Given the description of an element on the screen output the (x, y) to click on. 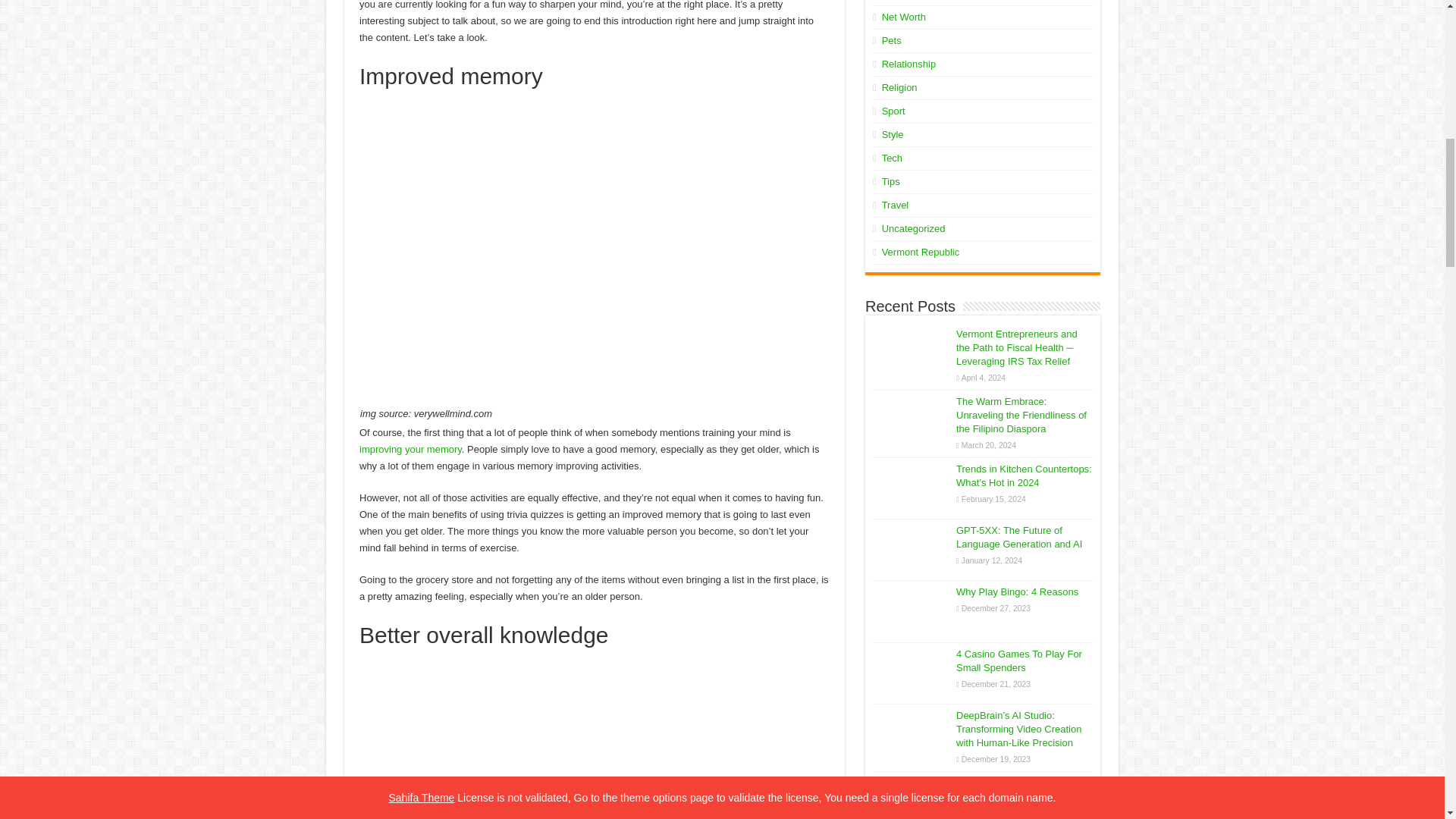
improving your memory (410, 449)
Scroll To Top (1421, 60)
